Given the description of an element on the screen output the (x, y) to click on. 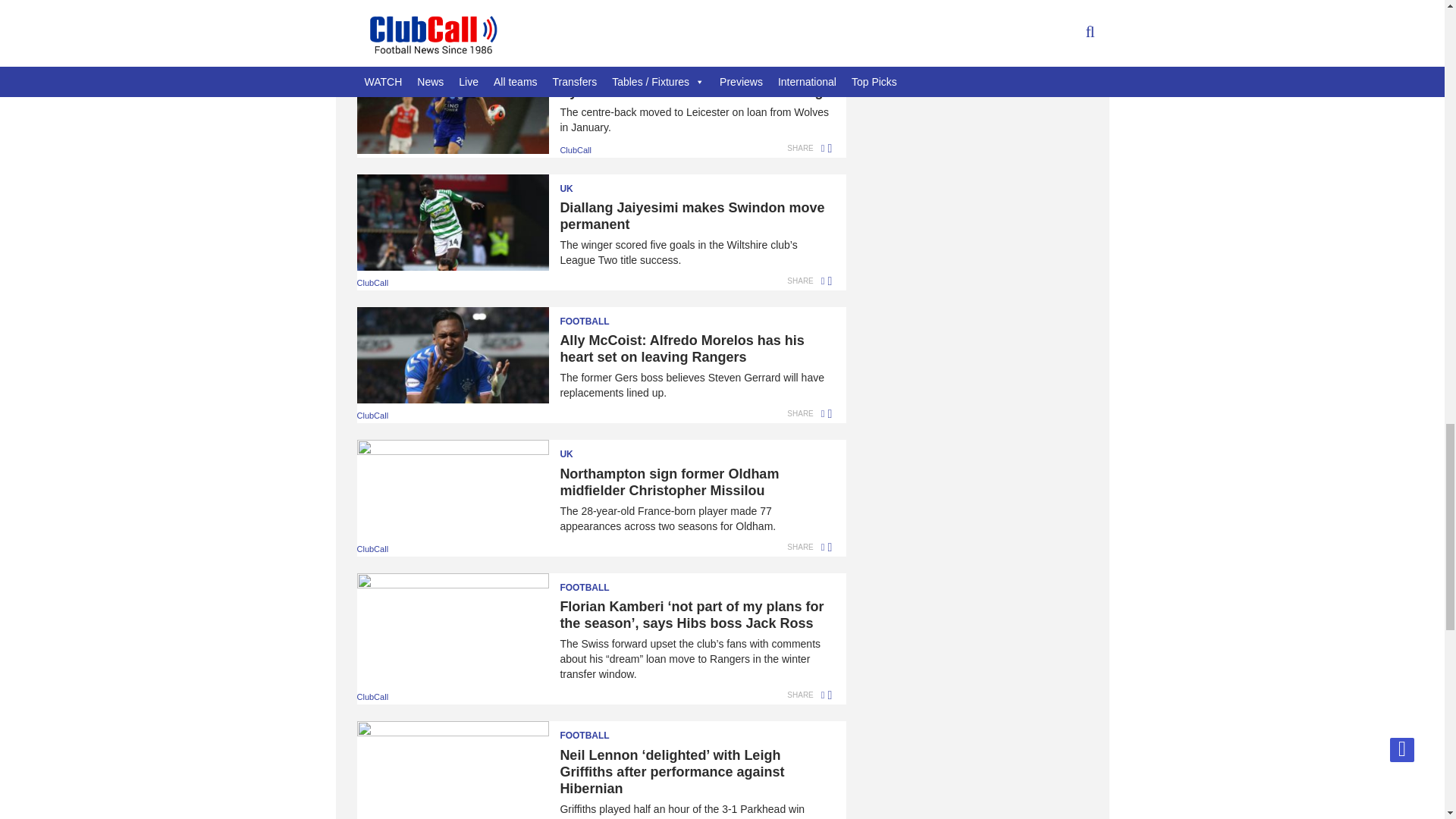
UK (593, 449)
Football (593, 731)
FOOTBALL (593, 66)
Football (593, 316)
Football (593, 66)
Ryan Bennett set to seek a new challenge (593, 91)
UK (593, 184)
ClubCall (372, 32)
ClubCall (575, 149)
Football (593, 582)
